Given the description of an element on the screen output the (x, y) to click on. 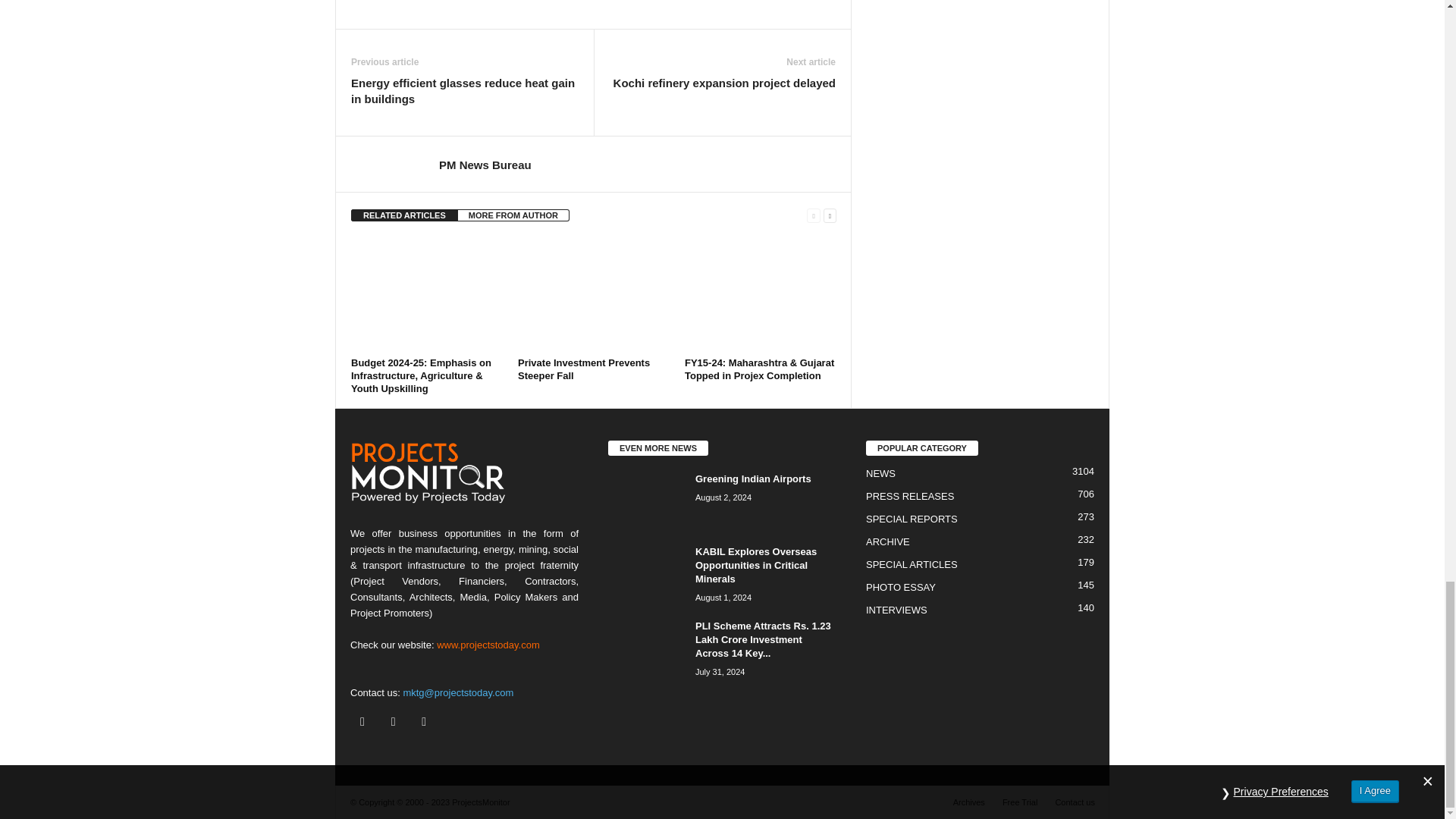
Private Investment Prevents Steeper Fall (593, 295)
